Given the description of an element on the screen output the (x, y) to click on. 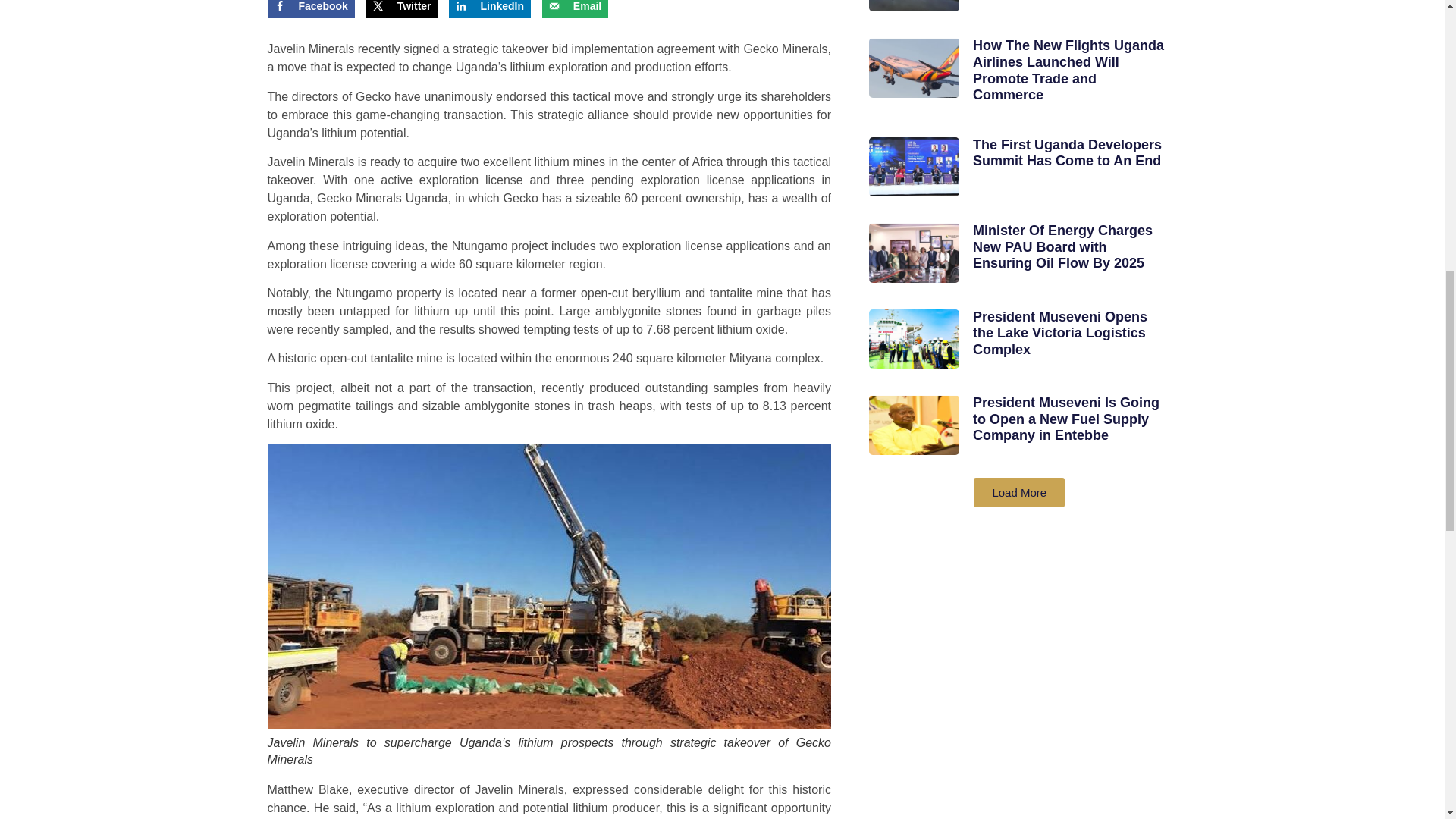
Share on Facebook (309, 9)
Share on LinkedIn (489, 9)
Share on X (402, 9)
Send over email (574, 9)
